Given the description of an element on the screen output the (x, y) to click on. 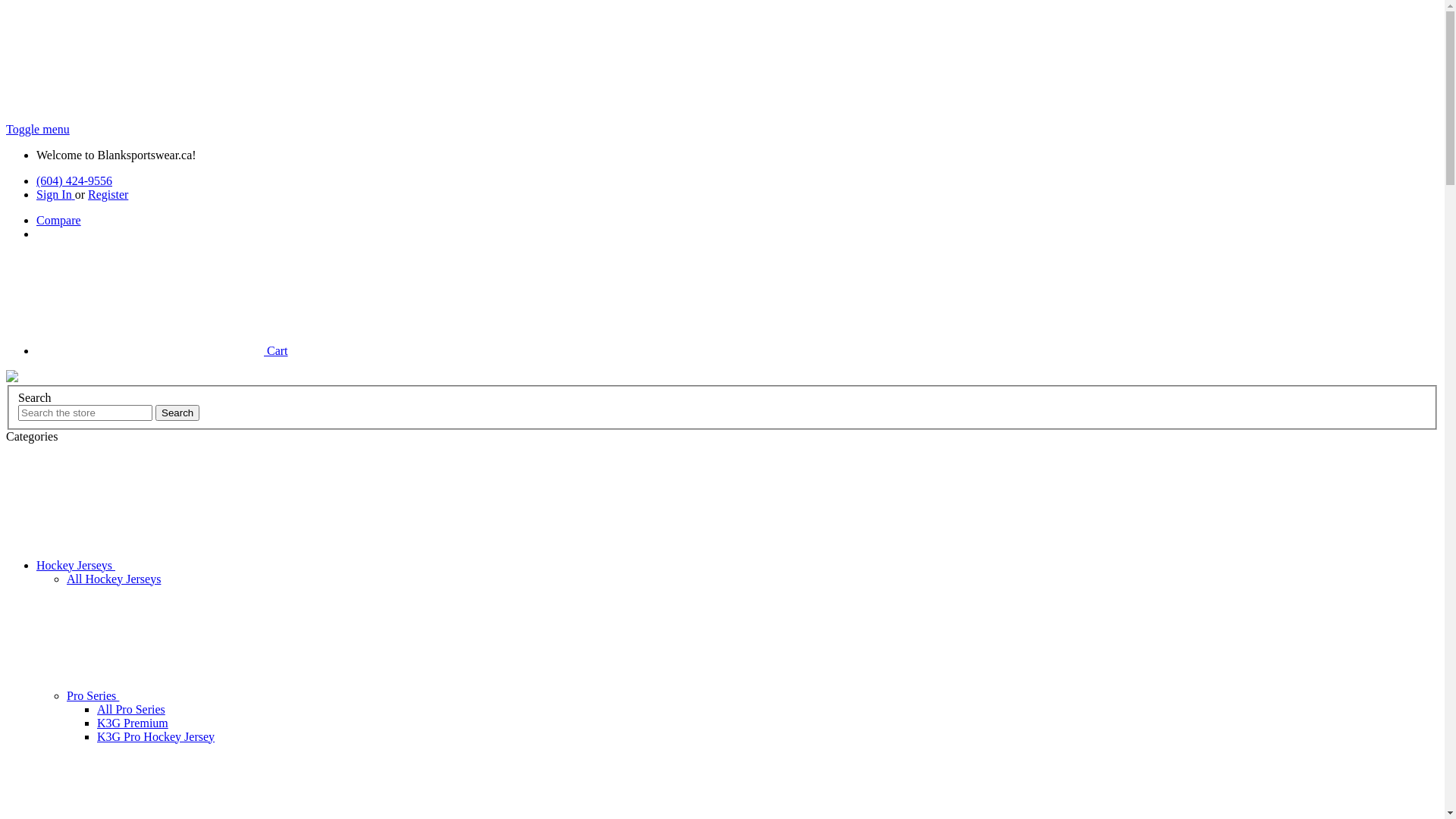
(604) 424-9556 Element type: text (74, 180)
Sign In Element type: text (55, 194)
Cart Element type: text (162, 350)
  Element type: hover (12, 376)
K3G Premium Element type: text (132, 722)
Compare Element type: text (58, 219)
All Pro Series Element type: text (131, 708)
Toggle menu Element type: text (37, 128)
All Hockey Jerseys Element type: text (113, 578)
K3G Pro Hockey Jersey Element type: text (155, 736)
Search Element type: text (177, 412)
Register Element type: text (107, 194)
Pro Series Element type: text (206, 695)
Hockey Jerseys Element type: text (189, 564)
Categories Element type: text (31, 435)
